Given the description of an element on the screen output the (x, y) to click on. 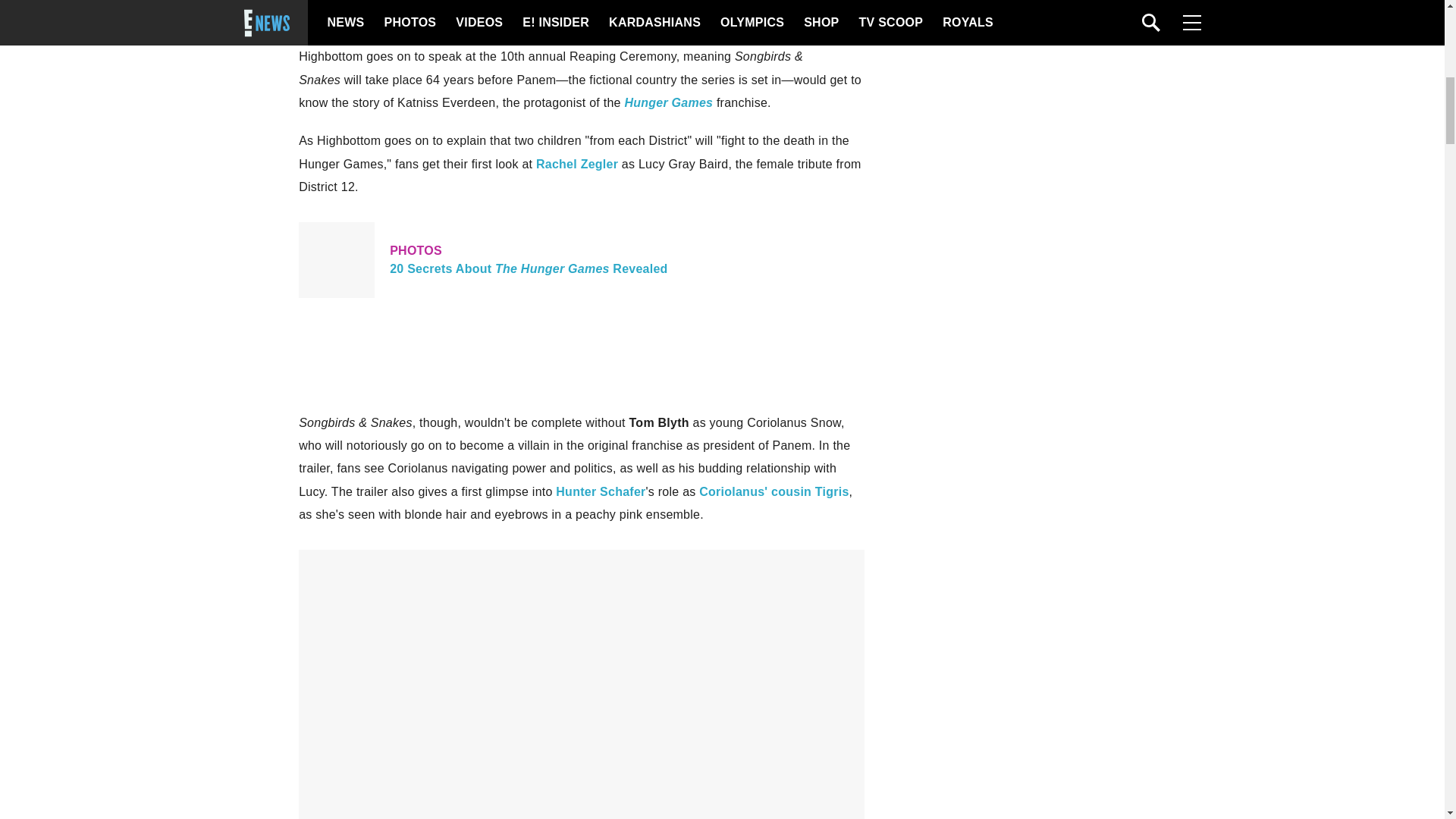
Hunger Games (581, 259)
Coriolanus' cousin Tigris (668, 102)
Viola Davis (773, 491)
Peter Dinklage (331, 1)
Hunter Schafer (775, 18)
Rachel Zegler (600, 491)
